Given the description of an element on the screen output the (x, y) to click on. 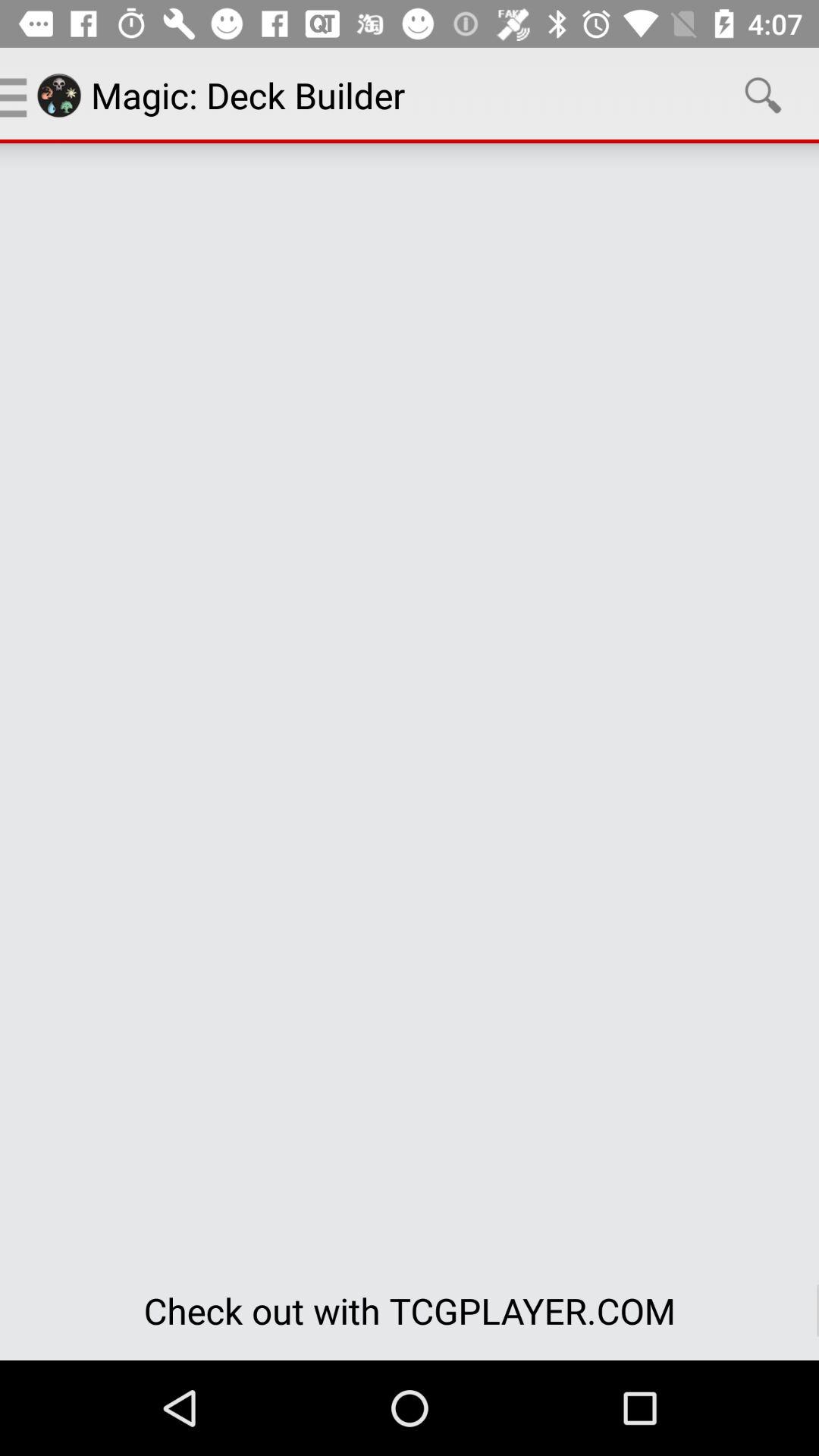
launch the icon next to magic: deck builder (763, 95)
